Given the description of an element on the screen output the (x, y) to click on. 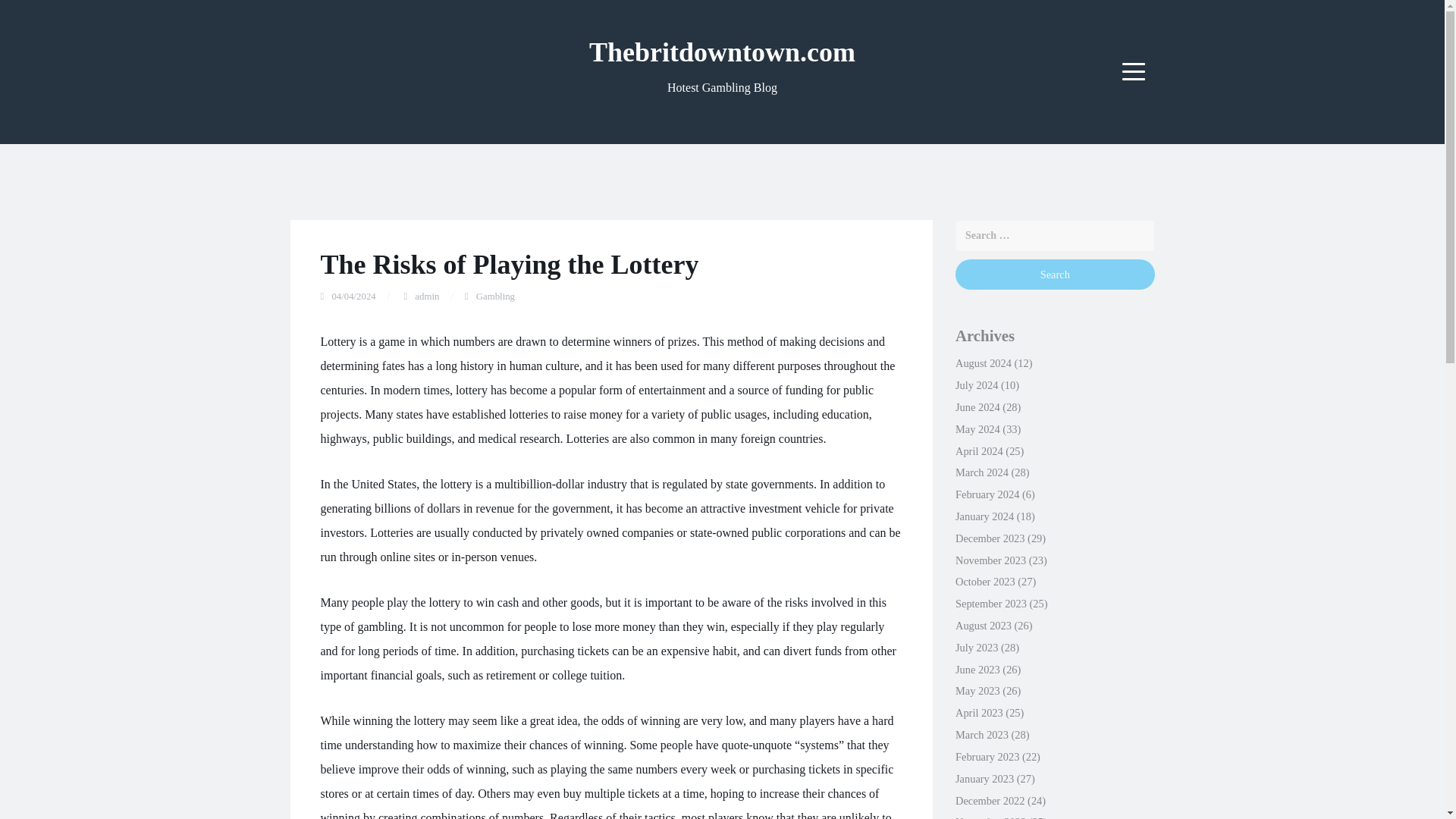
December 2023 (990, 538)
admin (426, 296)
June 2023 (977, 669)
Search (1054, 274)
Gambling (495, 296)
April 2023 (979, 712)
April 2024 (979, 451)
Menu (1133, 71)
January 2023 (984, 778)
March 2023 (982, 734)
